Given the description of an element on the screen output the (x, y) to click on. 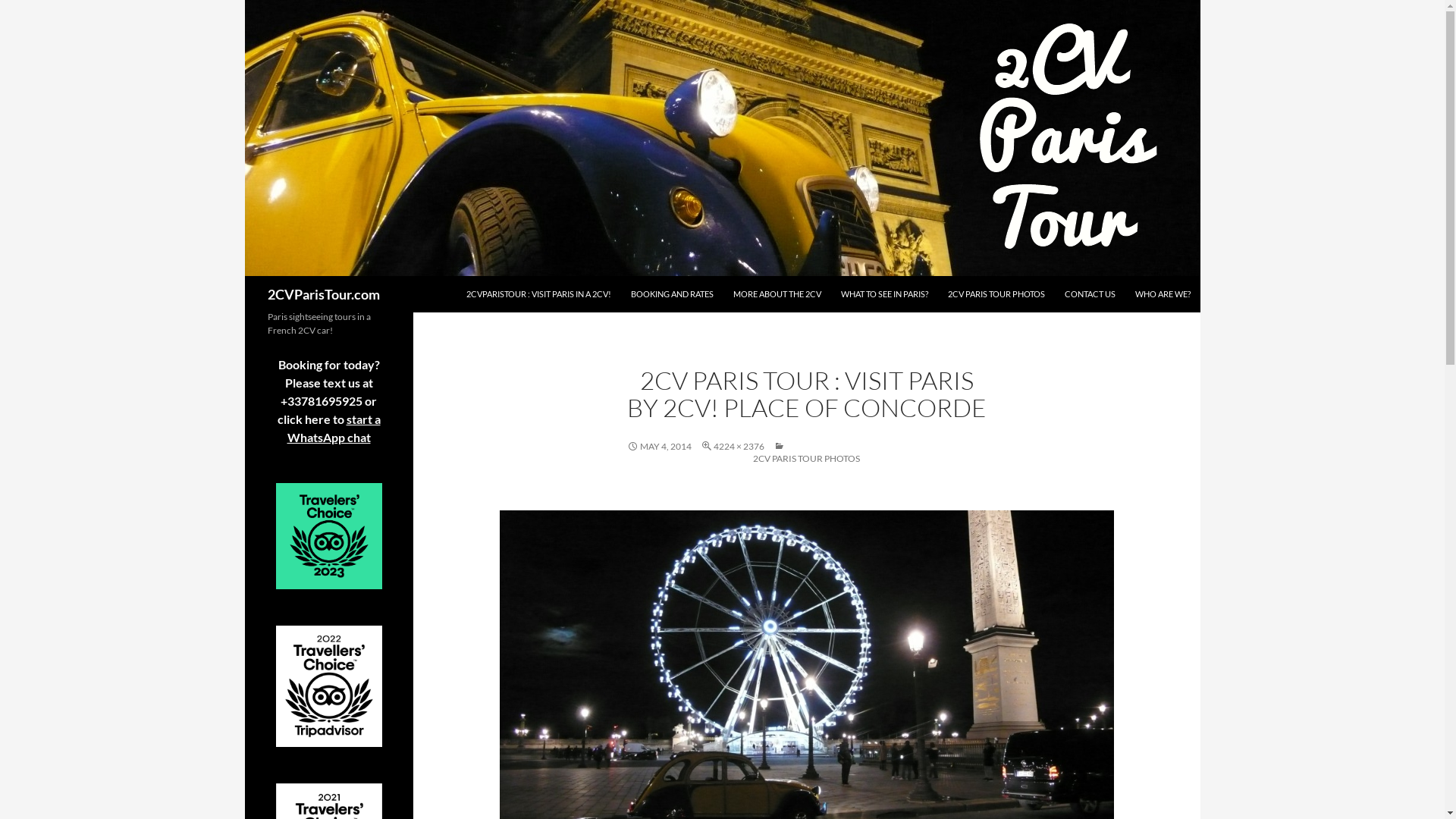
WHO ARE WE? Element type: text (1161, 303)
CONTACT US Element type: text (1089, 303)
2CV PARIS TOUR PHOTOS Element type: text (805, 467)
2CVParisTour TripAdvisor 2023 Element type: hover (329, 536)
WHAT TO SEE IN PARIS? Element type: text (883, 303)
BOOKING AND RATES Element type: text (671, 303)
2CVParisTour TripAdvisor 2022 Element type: hover (329, 685)
start a WhatsApp chat Element type: text (332, 427)
2CV PARIS TOUR PHOTOS Element type: text (996, 303)
MORE ABOUT THE 2CV Element type: text (776, 303)
SKIP TO CONTENT Element type: text (465, 275)
2CVParisTour.com Element type: text (322, 293)
2CVPARISTOUR : VISIT PARIS IN A 2CV! Element type: text (537, 303)
